Given the description of an element on the screen output the (x, y) to click on. 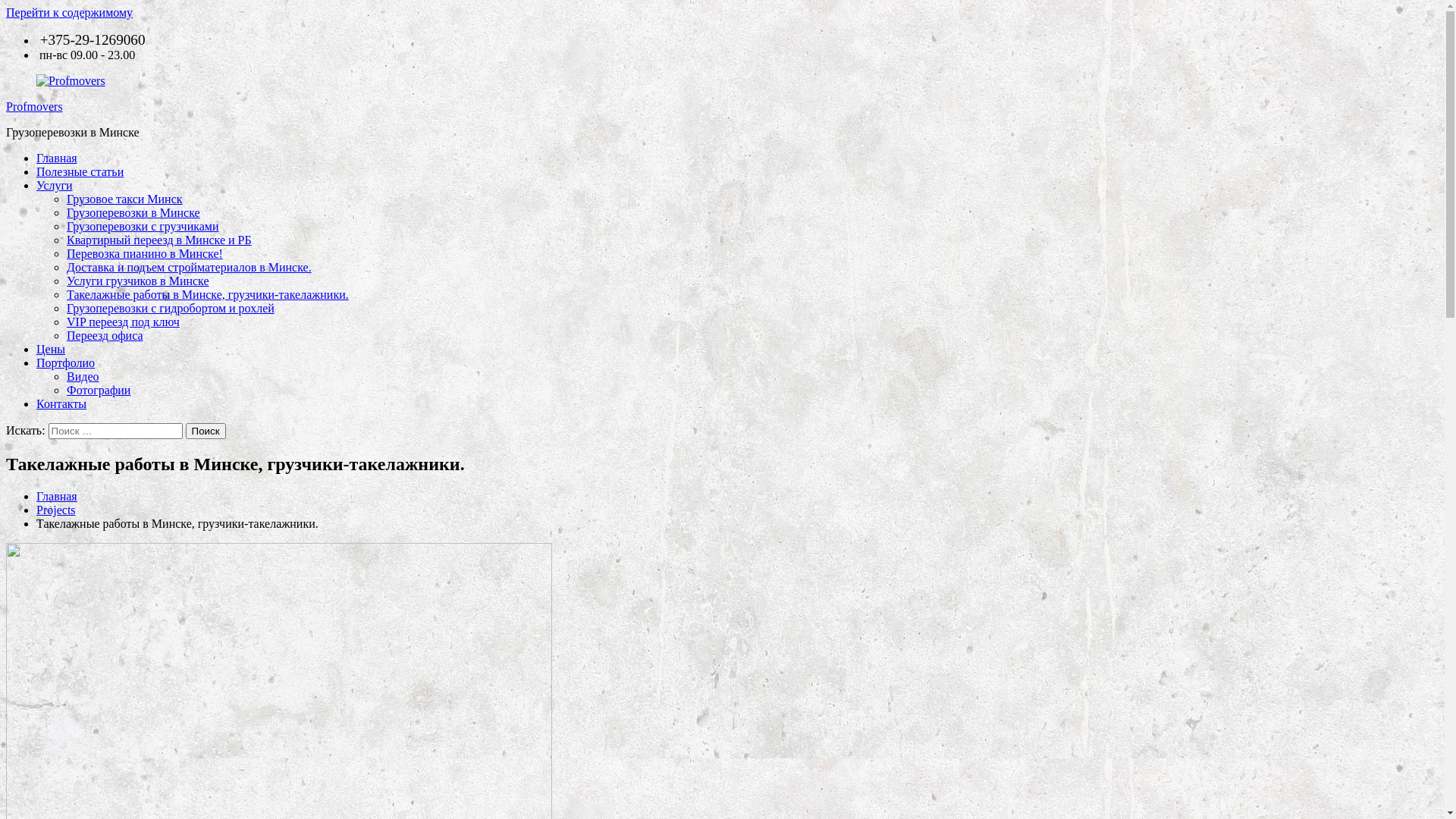
Projects Element type: text (55, 509)
Profmovers Element type: text (34, 106)
